Given the description of an element on the screen output the (x, y) to click on. 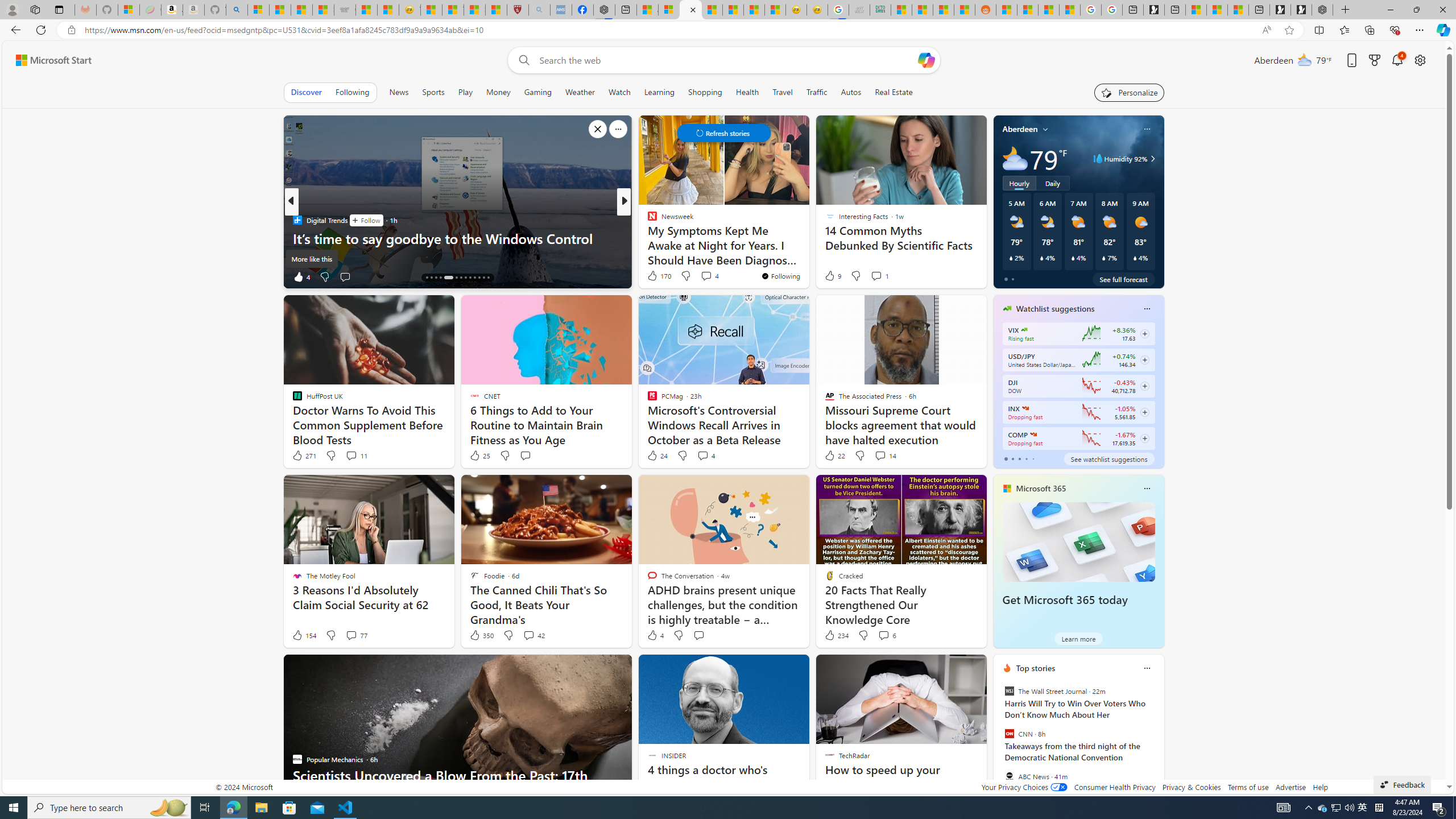
25 Like (479, 455)
These 3 Stocks Pay You More Than 5% to Own Them (1238, 9)
Kinda Frugal (647, 238)
Fitness - MSN (732, 9)
AutomationID: tab-17 (440, 277)
